Given the description of an element on the screen output the (x, y) to click on. 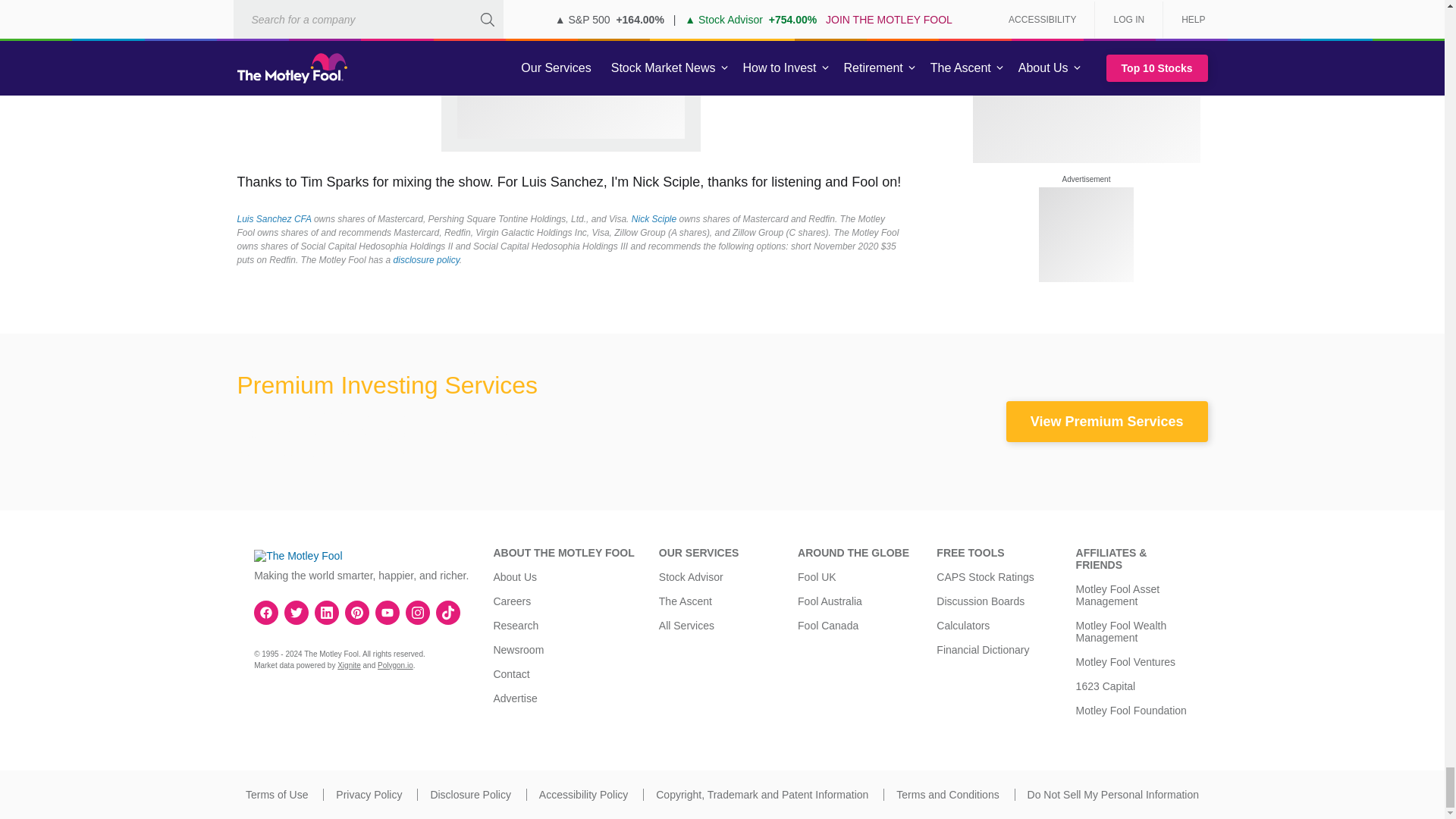
Do Not Sell My Personal Information. (1112, 794)
Accessibility Policy (582, 794)
Terms of Use (276, 794)
Copyright, Trademark and Patent Information (761, 794)
Terms and Conditions (947, 794)
Disclosure Policy (470, 794)
Privacy Policy (368, 794)
